Given the description of an element on the screen output the (x, y) to click on. 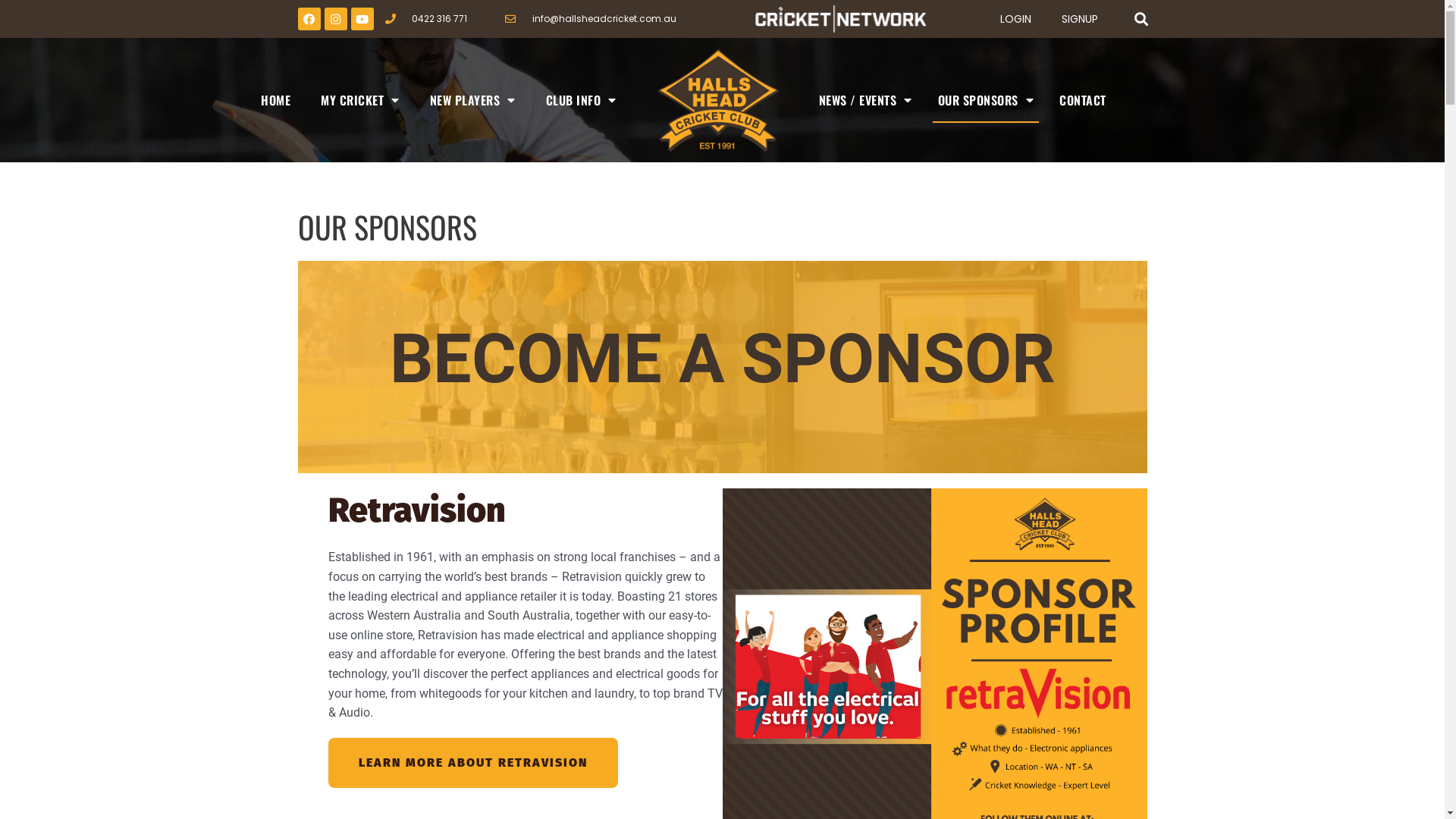
CLUB INFO Element type: text (581, 99)
NEW PLAYERS Element type: text (472, 99)
OUR SPONSORS Element type: text (985, 99)
NEWS / EVENTS Element type: text (865, 99)
CONTACT Element type: text (1082, 99)
0422 316 771 Element type: text (426, 18)
BECOME A SPONSOR Element type: text (721, 366)
SIGNUP Element type: text (1079, 18)
HOME Element type: text (275, 99)
info@hallsheadcricket.com.au Element type: text (590, 18)
MY CRICKET Element type: text (360, 99)
LEARN MORE ABOUT RETRAVISION Element type: text (472, 762)
LOGIN Element type: text (1015, 18)
